Given the description of an element on the screen output the (x, y) to click on. 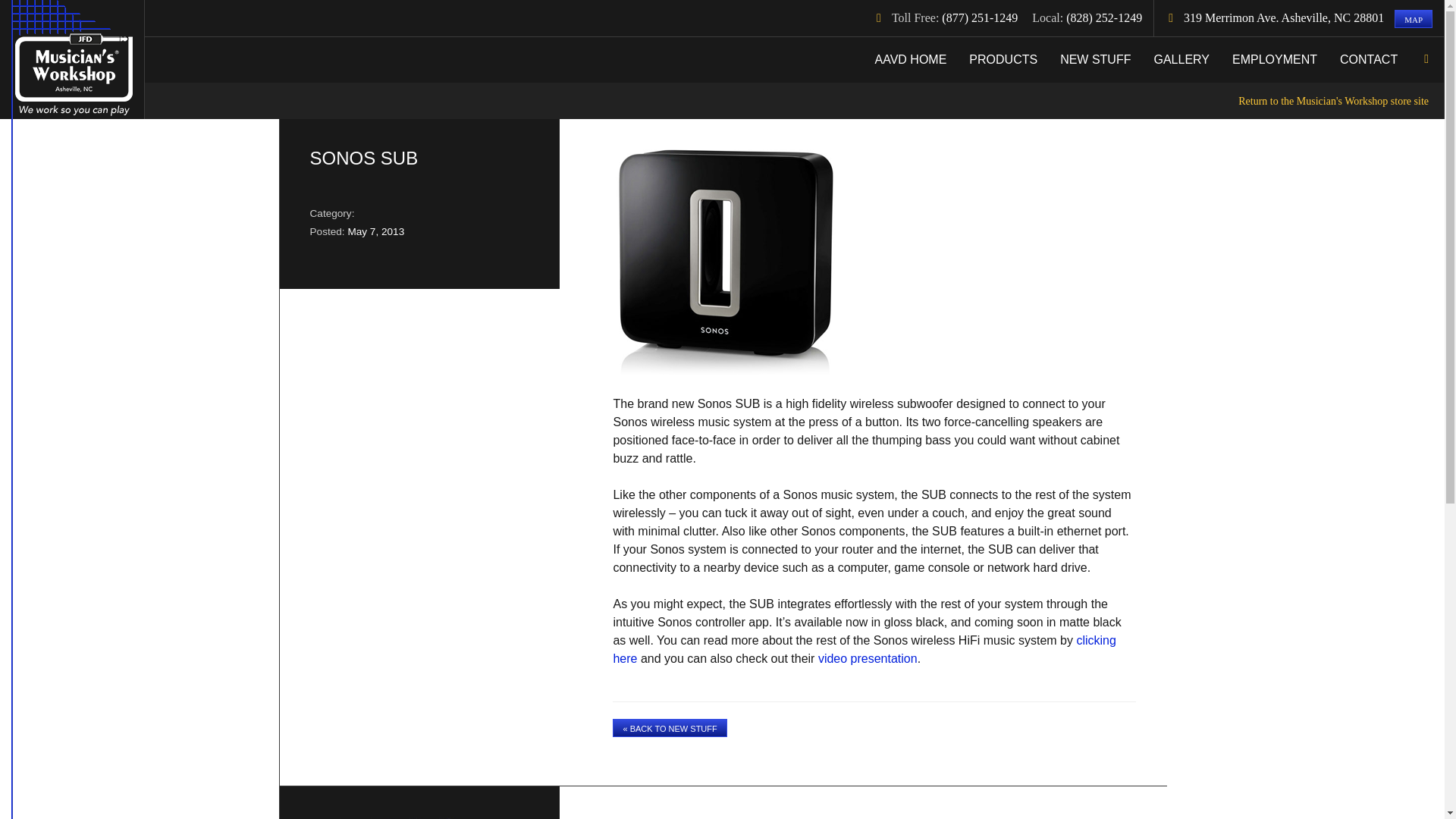
Back to New Stuff (669, 728)
MAP (1413, 18)
Musician's Workshop (71, 58)
clicking here (863, 649)
EMPLOYMENT (1274, 59)
Feedback (397, 817)
GALLERY (1181, 59)
MUSICIAN'S WORKSHOP (71, 58)
Return to the Musician's Workshop store site (794, 100)
AAVD HOME (910, 59)
PRODUCTS (1003, 59)
CONTACT (1368, 59)
Send Us Your Feedback (397, 817)
video presentation (867, 658)
NEW STUFF (1094, 59)
